Given the description of an element on the screen output the (x, y) to click on. 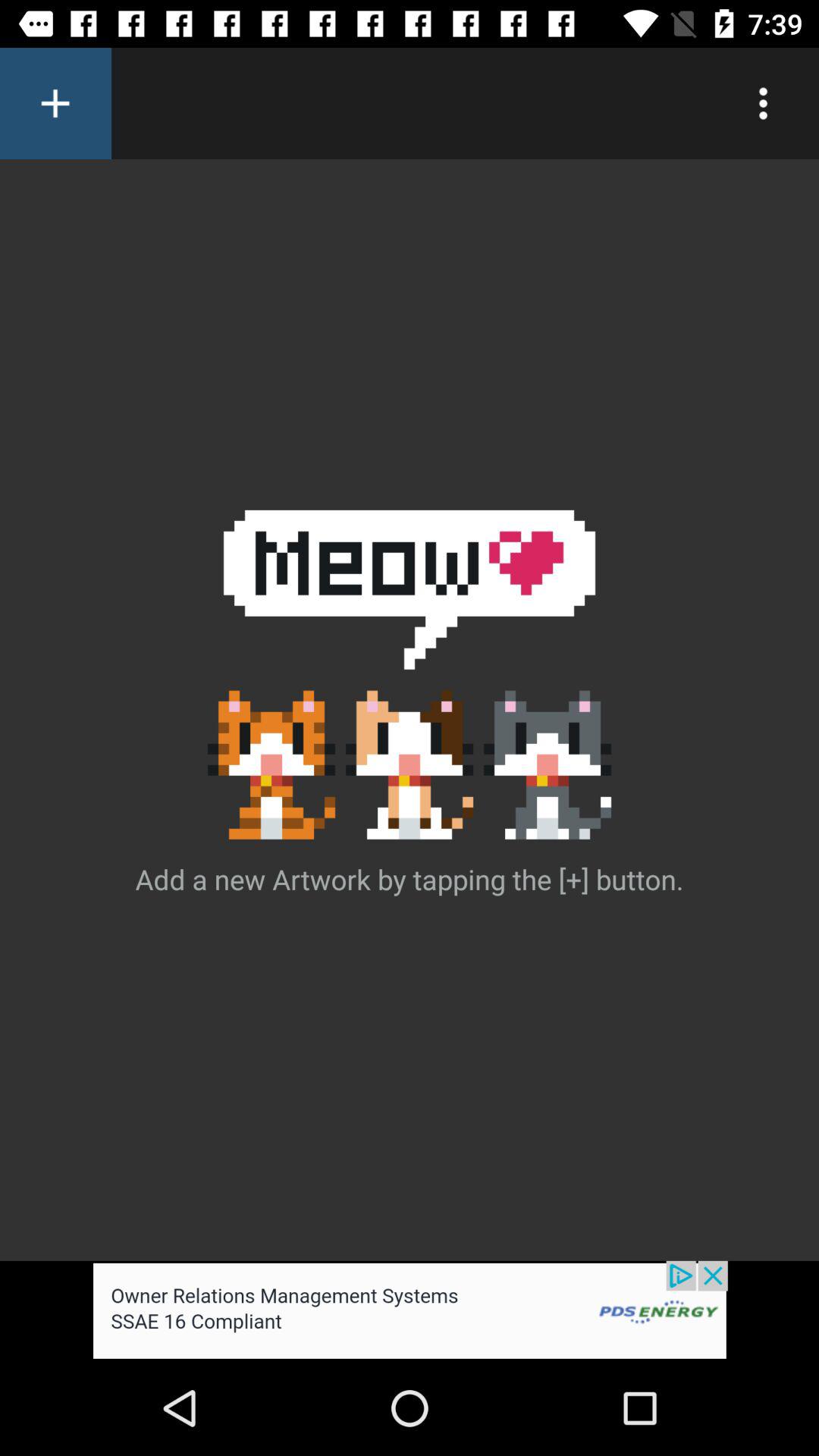
add page (55, 103)
